Given the description of an element on the screen output the (x, y) to click on. 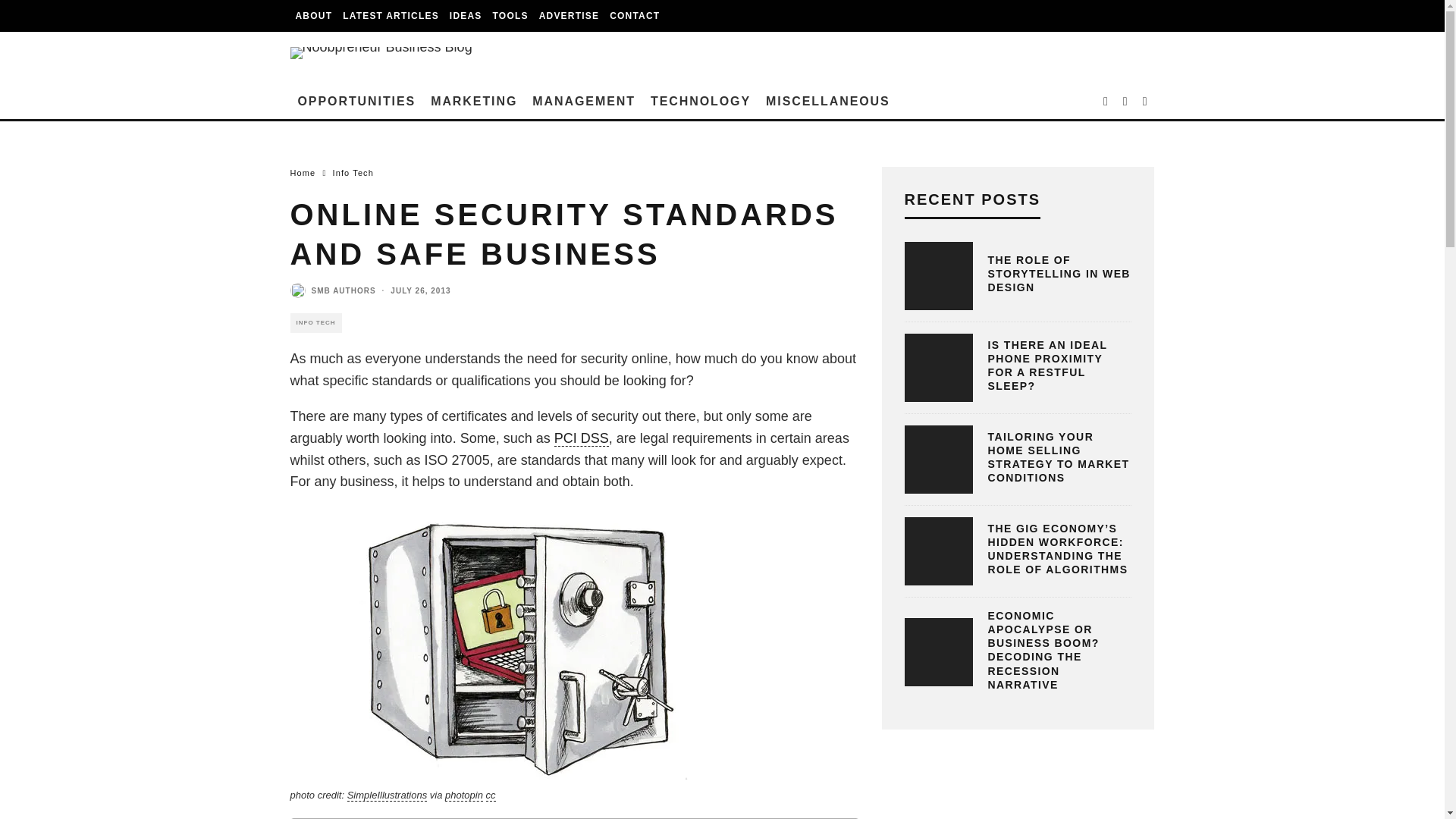
Information Technology (700, 101)
TOOLS (510, 15)
MARKETING (473, 101)
OPPORTUNITIES (356, 101)
MANAGEMENT (583, 101)
IDEAS (465, 15)
ADVERTISE (569, 15)
Small Business Apps (510, 15)
Business Management (583, 101)
ABOUT (313, 15)
